Given the description of an element on the screen output the (x, y) to click on. 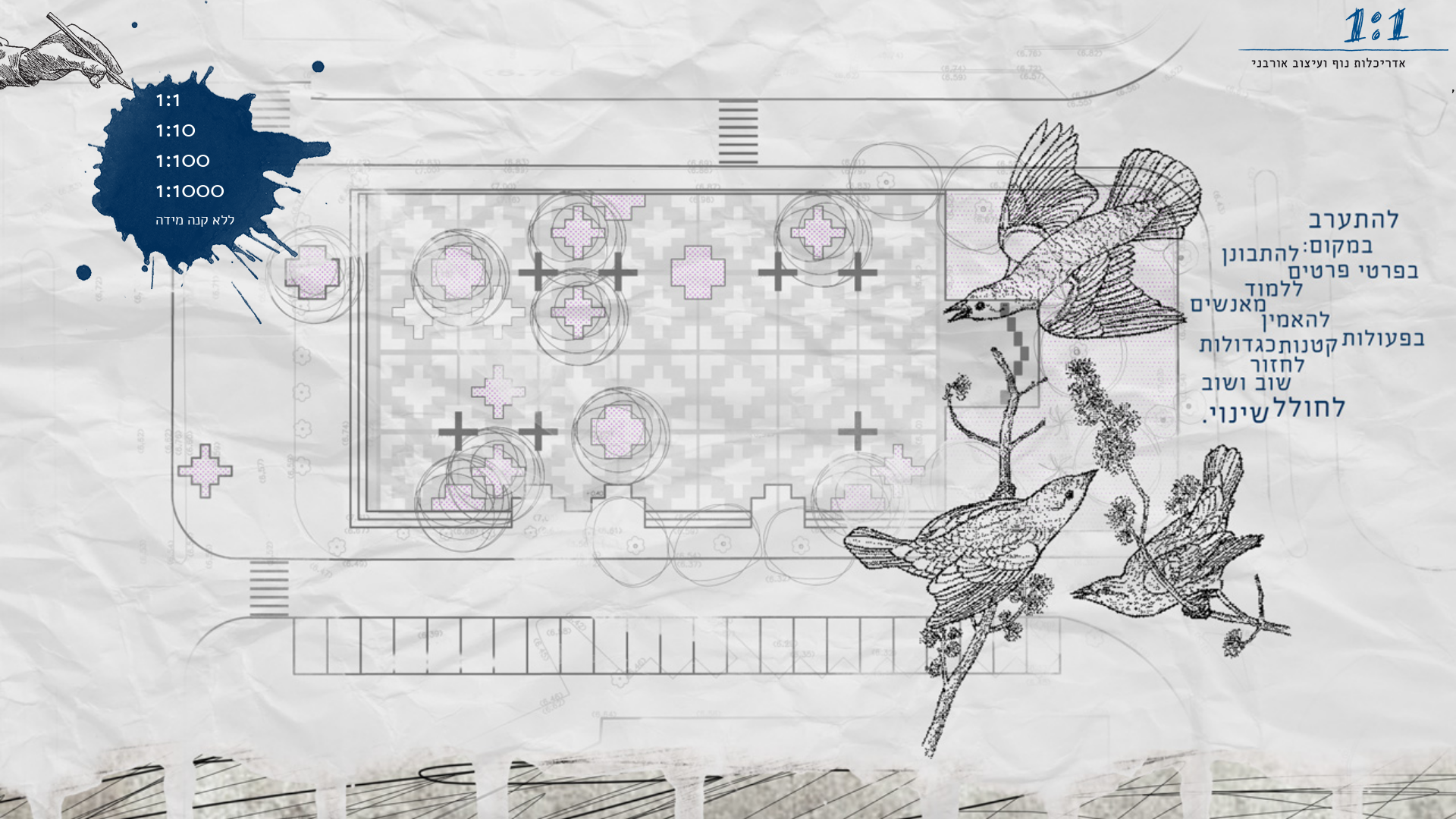
1:1 Element type: text (168, 97)
1:100 Element type: text (182, 158)
1:10 Element type: text (175, 128)
1:1000 Element type: text (189, 188)
